Given the description of an element on the screen output the (x, y) to click on. 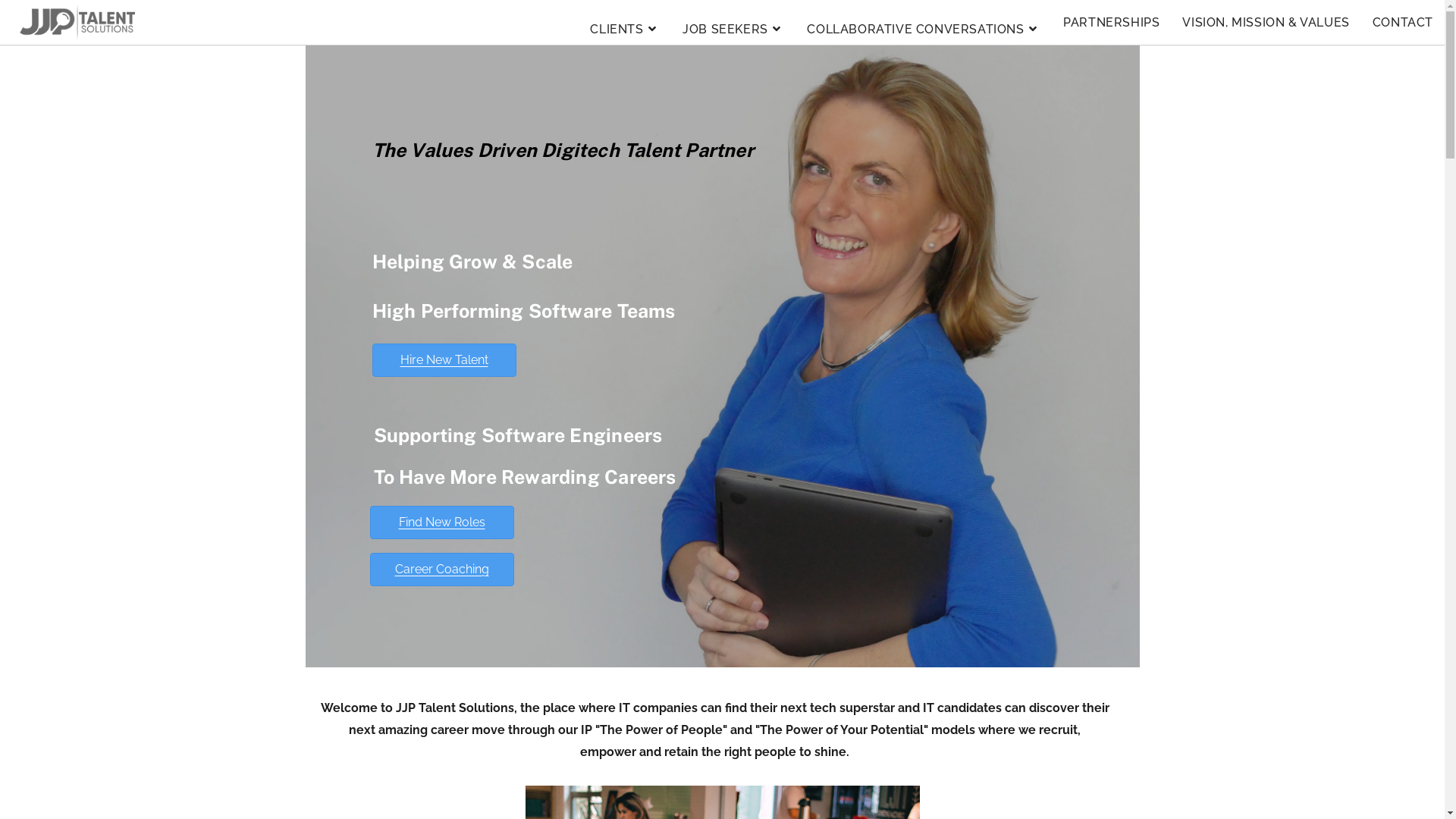
COLLABORATIVE CONVERSATIONS Element type: text (923, 25)
VISION, MISSION & VALUES Element type: text (1265, 22)
Find New Roles Element type: text (442, 522)
PARTNERSHIPS Element type: text (1110, 22)
Hire New Talent Element type: text (443, 359)
JOB SEEKERS Element type: text (733, 25)
CLIENTS Element type: text (624, 25)
Career Coaching Element type: text (442, 569)
CONTACT Element type: text (1402, 22)
